Given the description of an element on the screen output the (x, y) to click on. 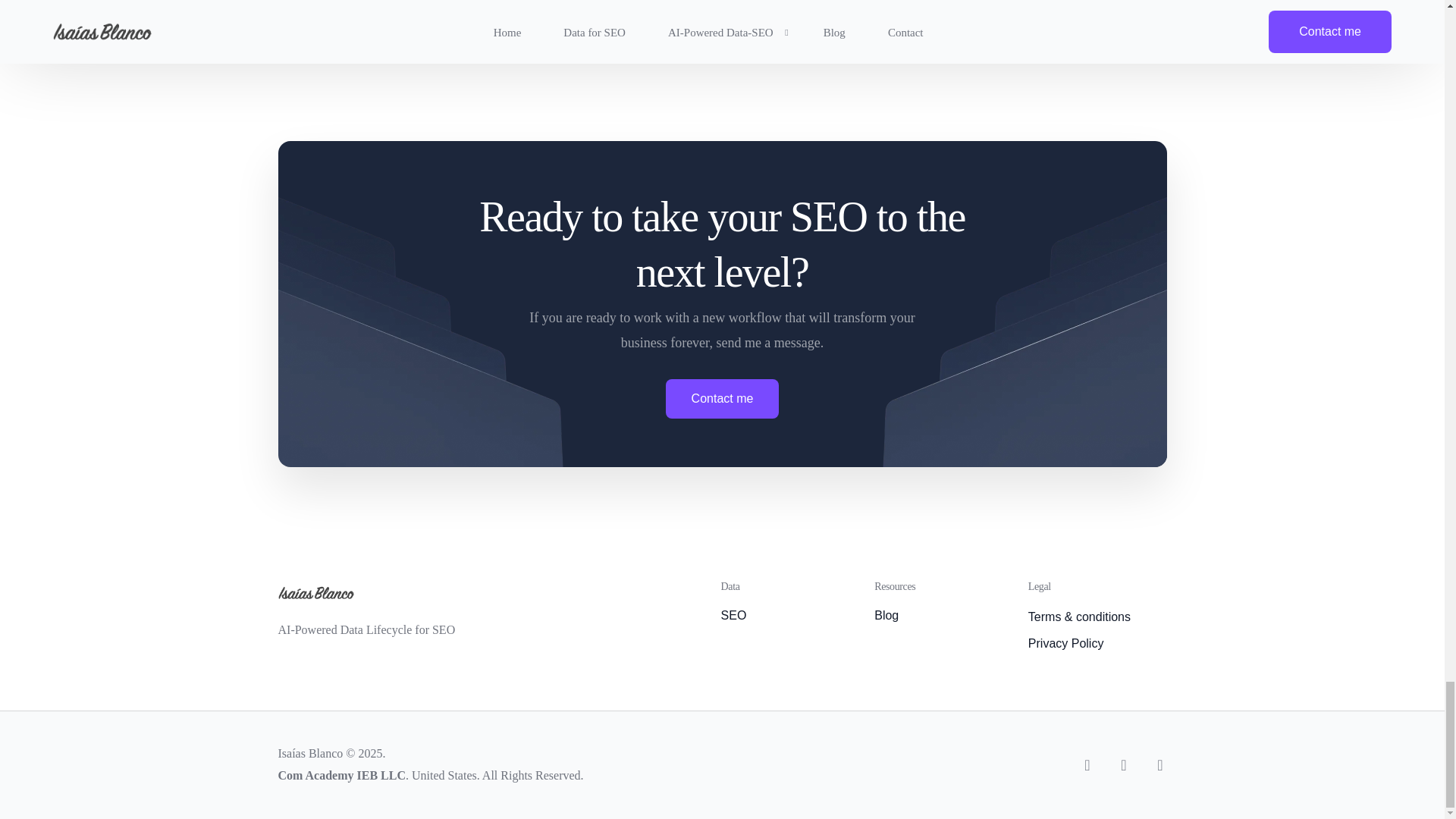
SEO (790, 616)
View All (325, 8)
Contact me (721, 398)
Privacy Policy (1097, 644)
Blog (944, 616)
